Given the description of an element on the screen output the (x, y) to click on. 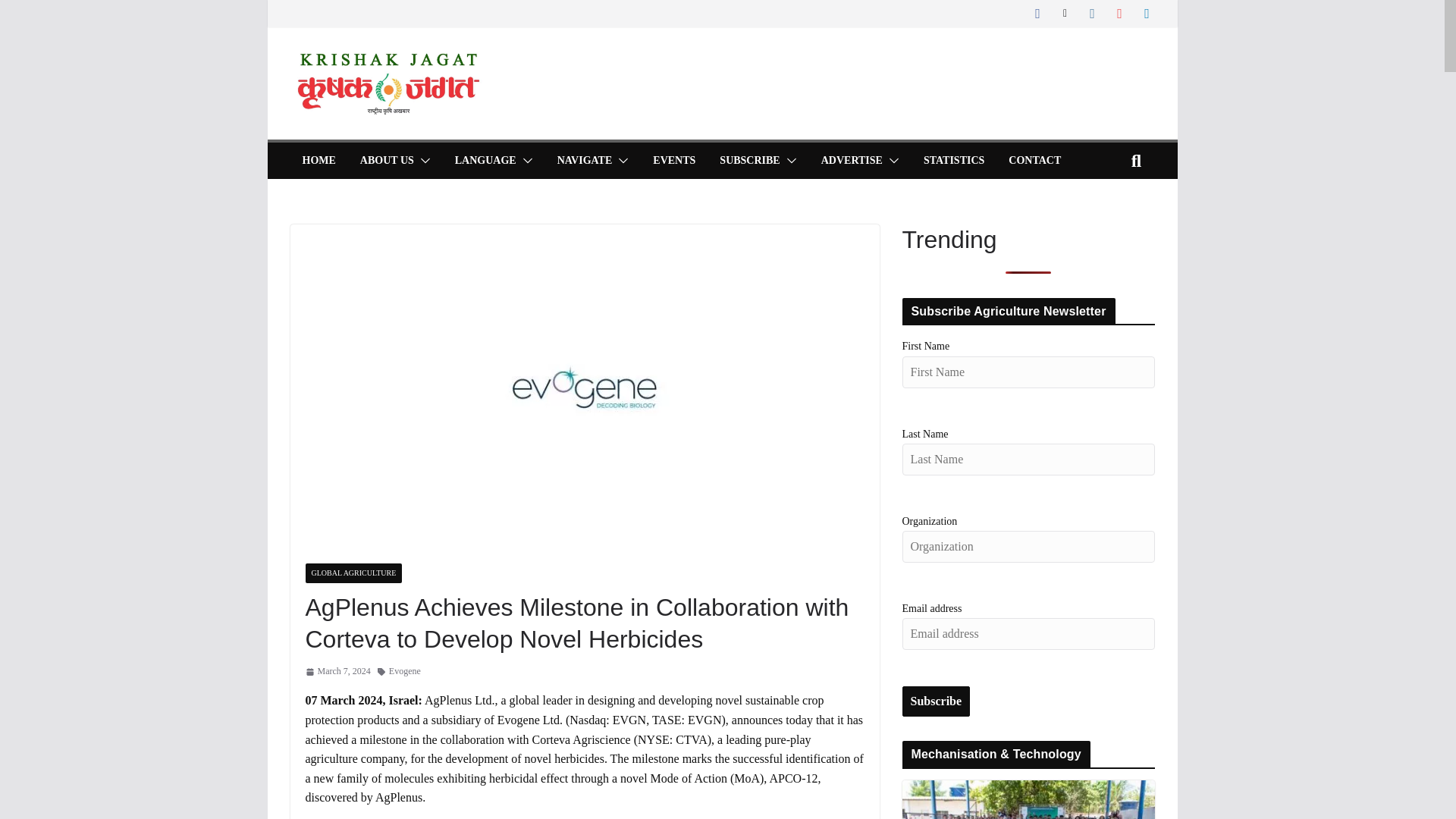
ADVERTISE (851, 160)
ABOUT US (386, 160)
LANGUAGE (485, 160)
SUBSCRIBE (748, 160)
4:07 pm (336, 671)
HOME (317, 160)
Subscribe (936, 701)
EVENTS (673, 160)
NAVIGATE (584, 160)
